Given the description of an element on the screen output the (x, y) to click on. 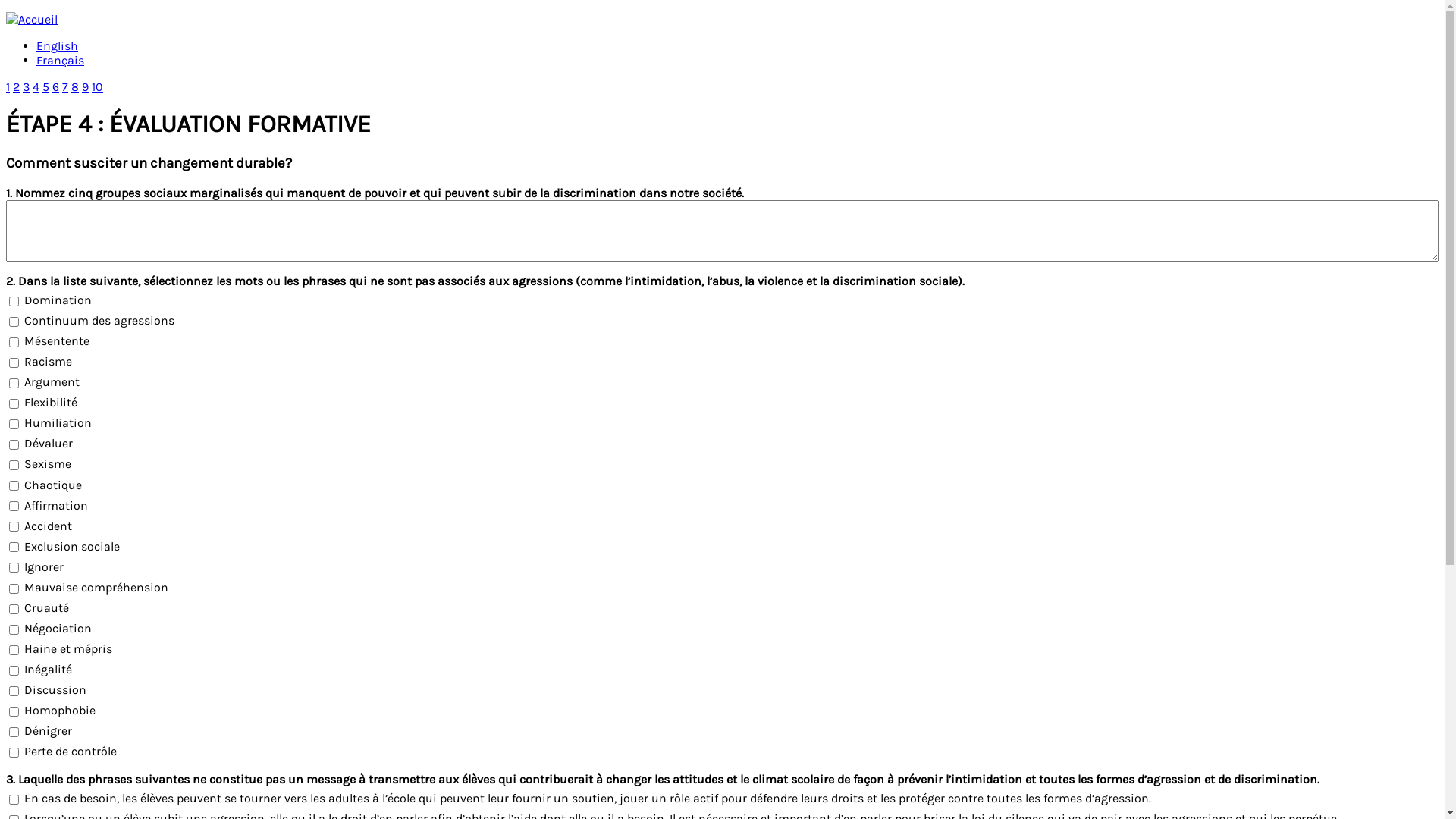
7 Element type: text (65, 86)
10 Element type: text (97, 86)
English Element type: text (57, 45)
9 Element type: text (84, 86)
1 Element type: text (7, 86)
8 Element type: text (74, 86)
3 Element type: text (25, 86)
Jump to navigation Element type: text (60, 12)
6 Element type: text (55, 86)
2 Element type: text (15, 86)
4 Element type: text (35, 86)
Accueil Element type: hover (31, 19)
5 Element type: text (45, 86)
